Given the description of an element on the screen output the (x, y) to click on. 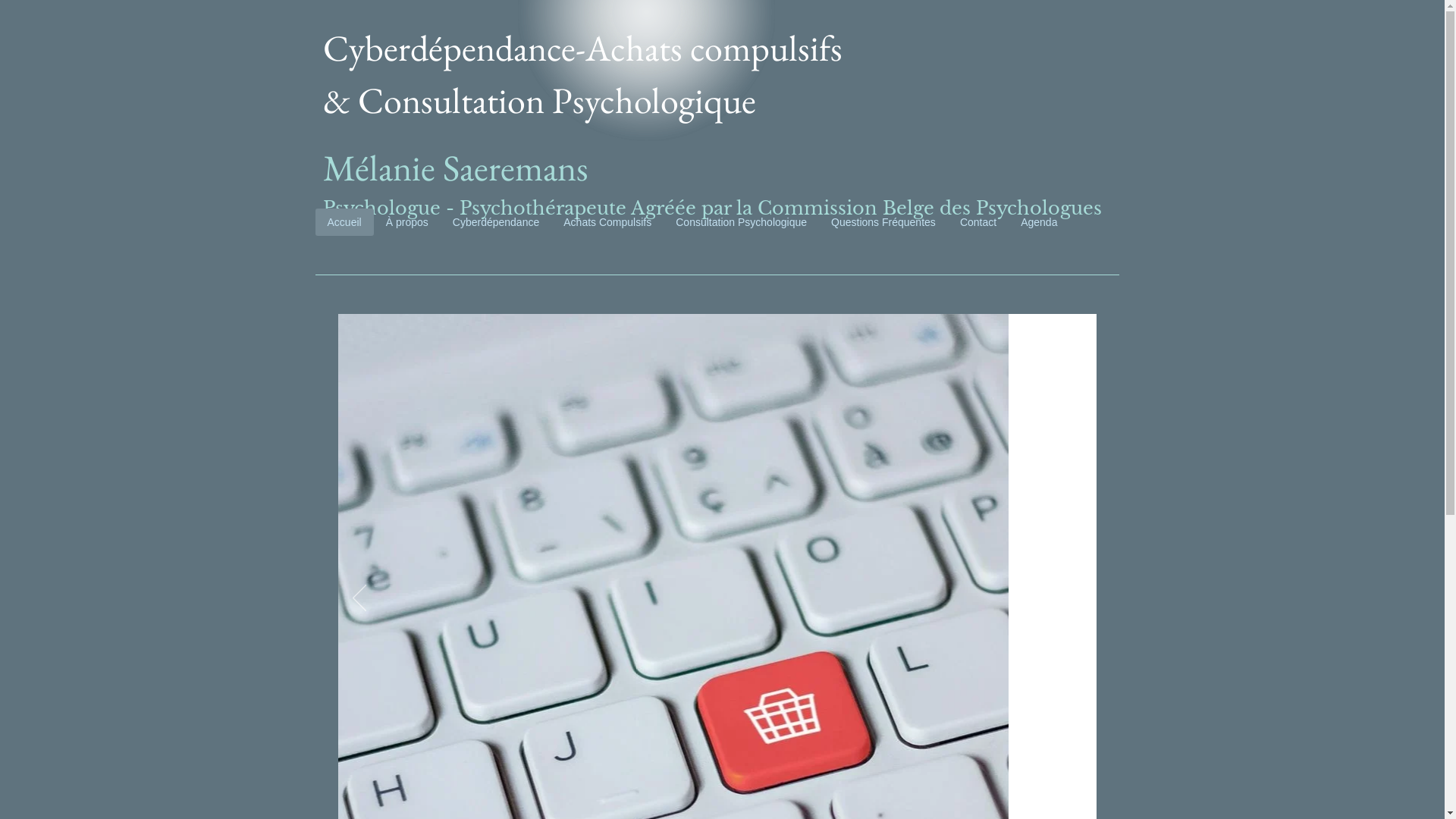
Contact Element type: text (977, 221)
Accueil Element type: text (344, 221)
Achats Compulsifs Element type: text (607, 221)
Agenda Element type: text (1038, 221)
Consultation Psychologique Element type: text (741, 221)
